Given the description of an element on the screen output the (x, y) to click on. 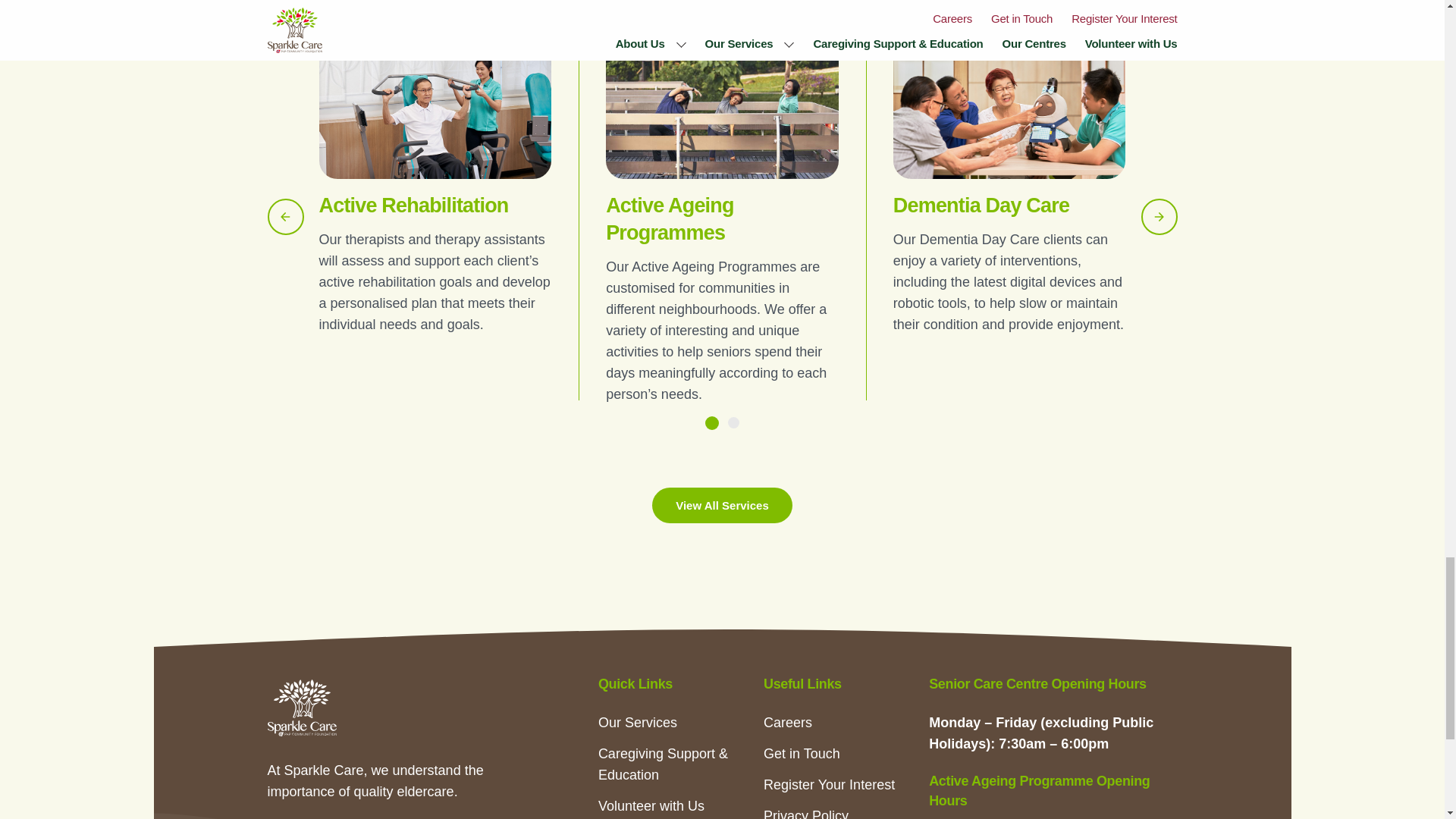
View All Services (722, 505)
Our Services (637, 722)
Register Your Interest (828, 784)
Privacy Policy (805, 813)
Volunteer with Us (651, 806)
Careers (787, 722)
Get in Touch (801, 753)
